Given the description of an element on the screen output the (x, y) to click on. 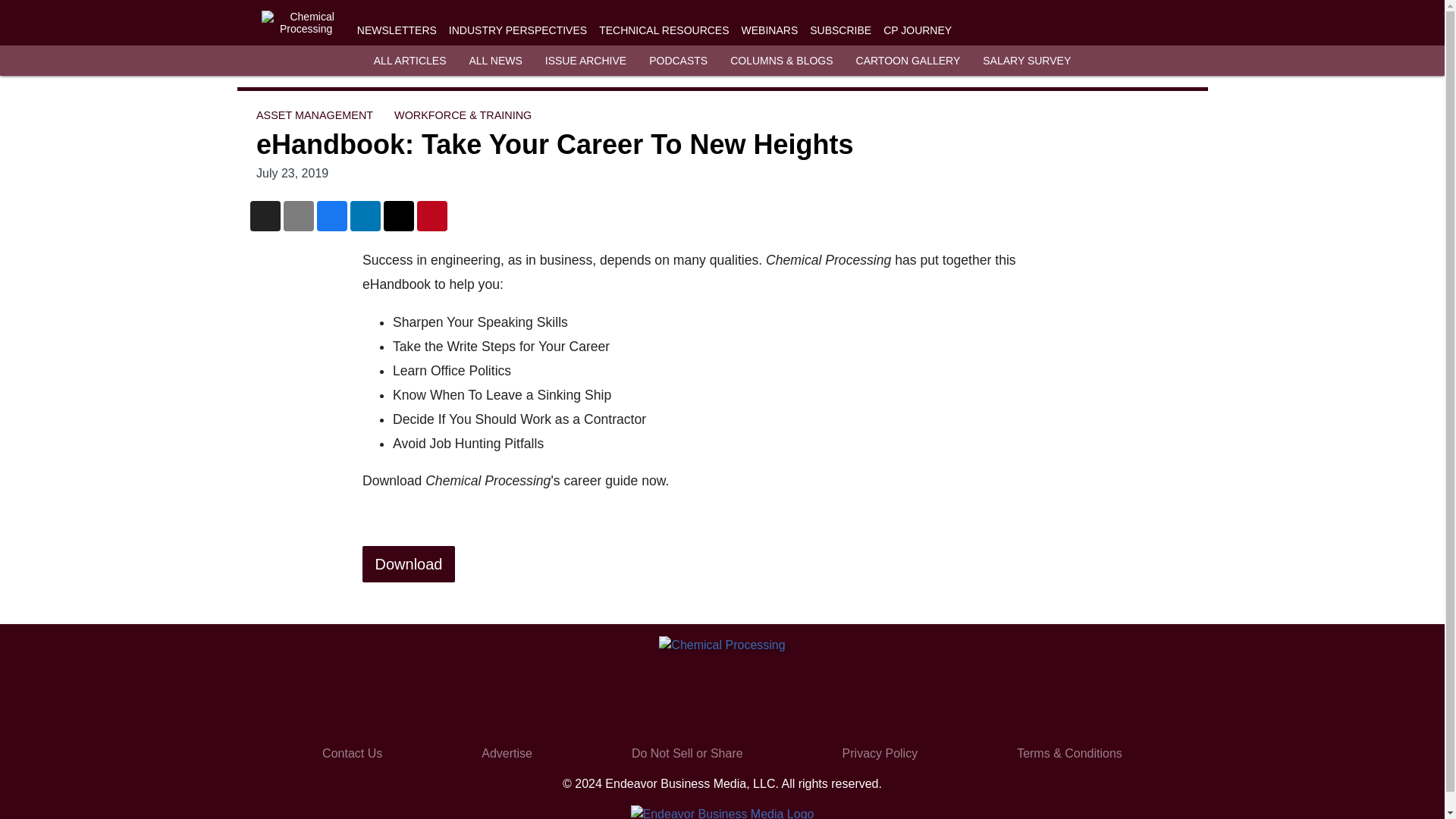
CARTOON GALLERY (908, 60)
Download (408, 564)
PODCASTS (678, 60)
INDUSTRY PERSPECTIVES (517, 30)
ALL ARTICLES (410, 60)
Contact Us (351, 753)
WEBINARS (769, 30)
SALARY SURVEY (1026, 60)
ASSET MANAGEMENT (314, 114)
Do Not Sell or Share (686, 753)
